Given the description of an element on the screen output the (x, y) to click on. 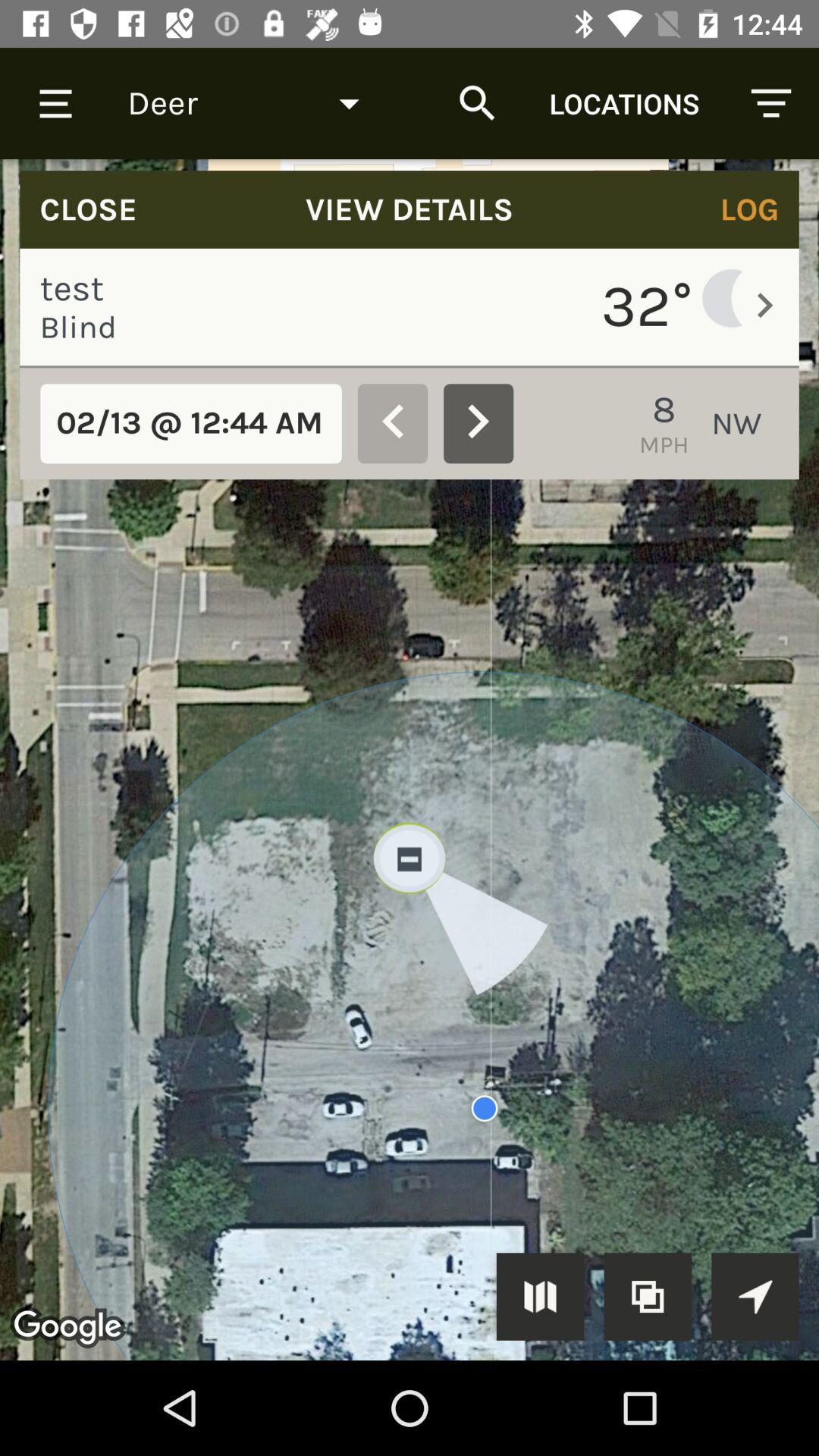
selected button (540, 1296)
